Given the description of an element on the screen output the (x, y) to click on. 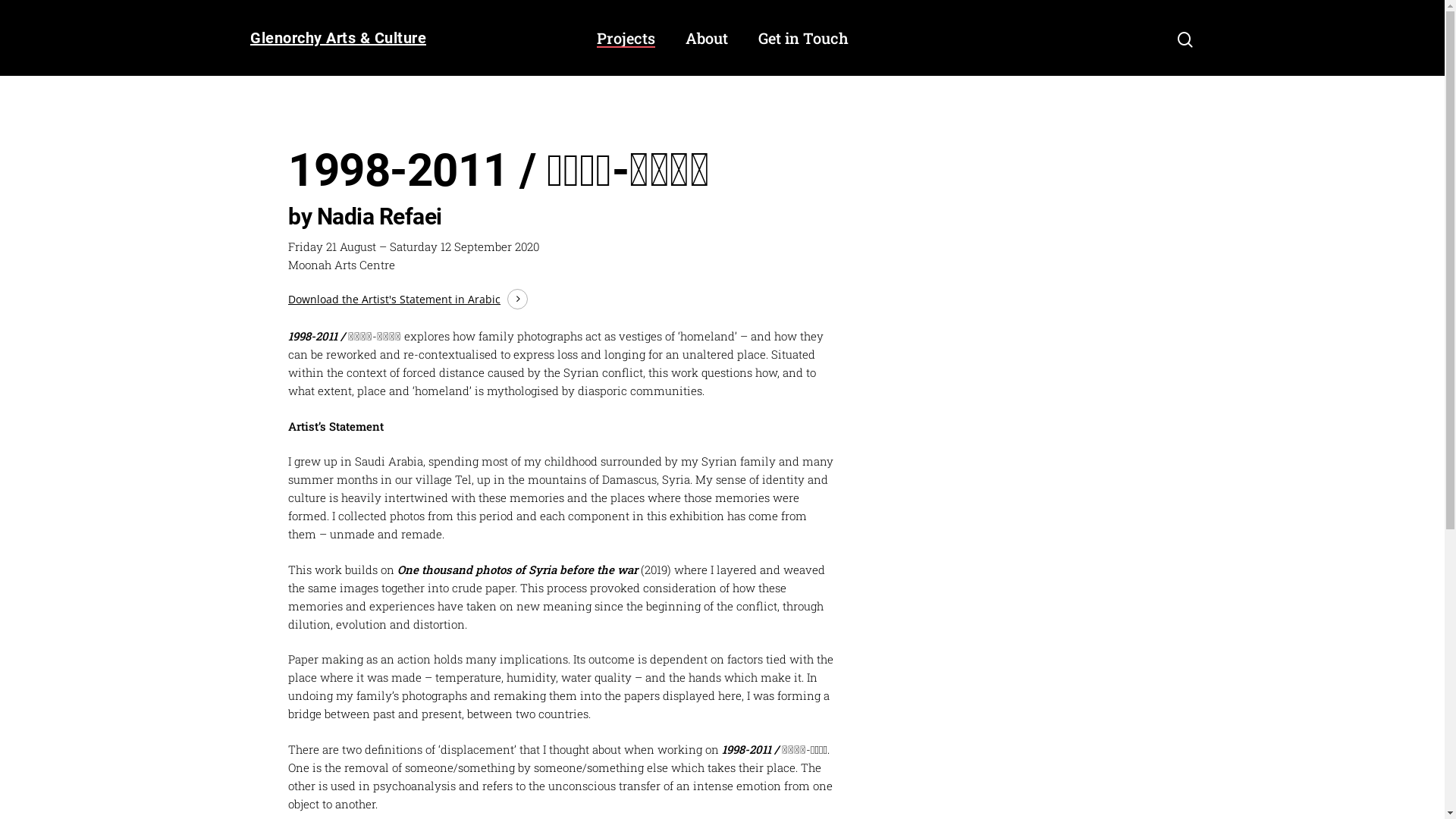
Get in Touch Element type: text (803, 37)
Projects Element type: text (625, 37)
Download the Artist's Statement in Arabic Element type: text (407, 299)
About Element type: text (706, 37)
Glenorchy Arts & Culture Element type: text (338, 37)
